Given the description of an element on the screen output the (x, y) to click on. 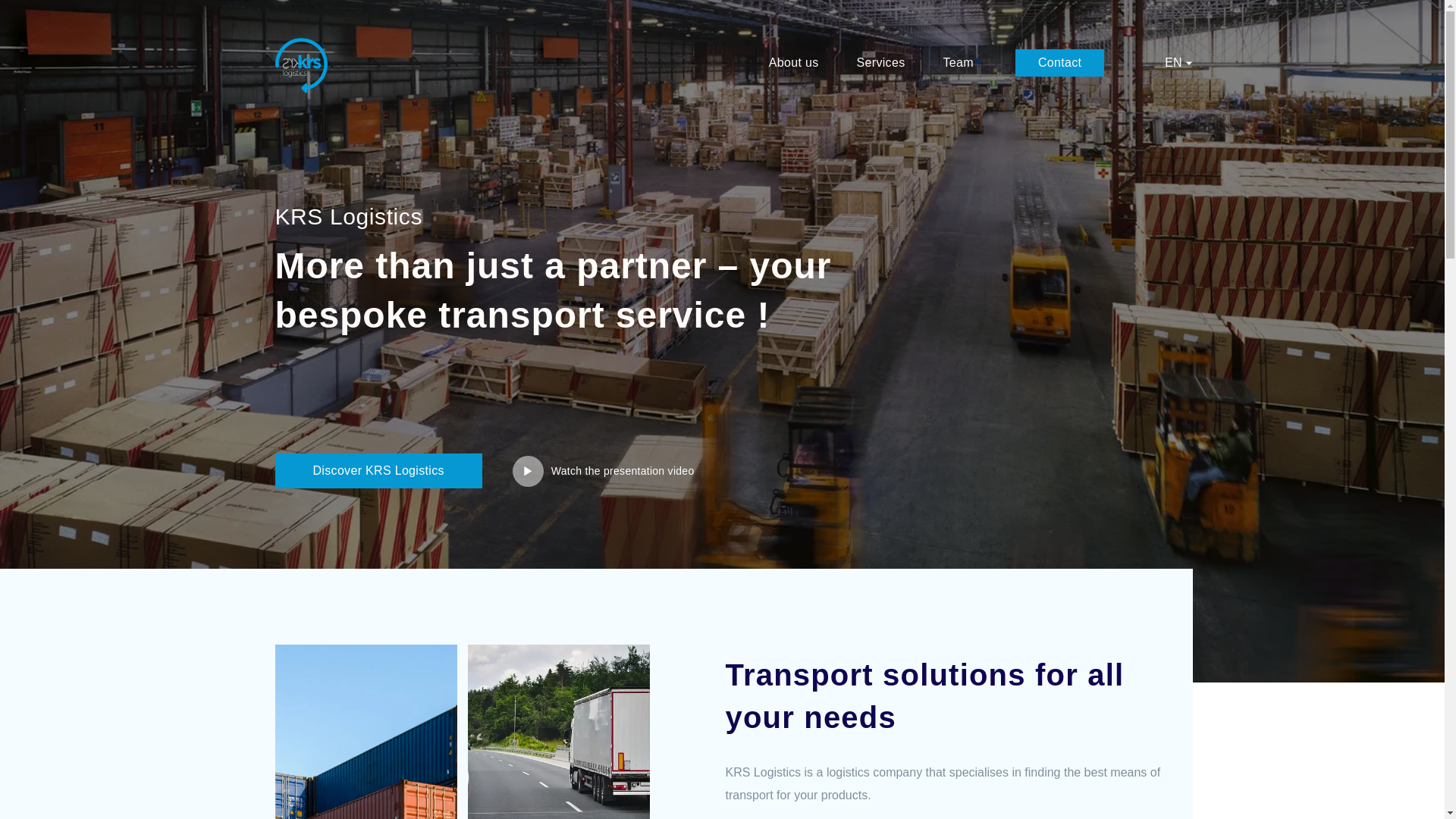
Contact (1058, 62)
About us (793, 62)
Services (881, 62)
Team (957, 62)
Watch the presentation video (603, 470)
Discover KRS Logistics (378, 470)
